Given the description of an element on the screen output the (x, y) to click on. 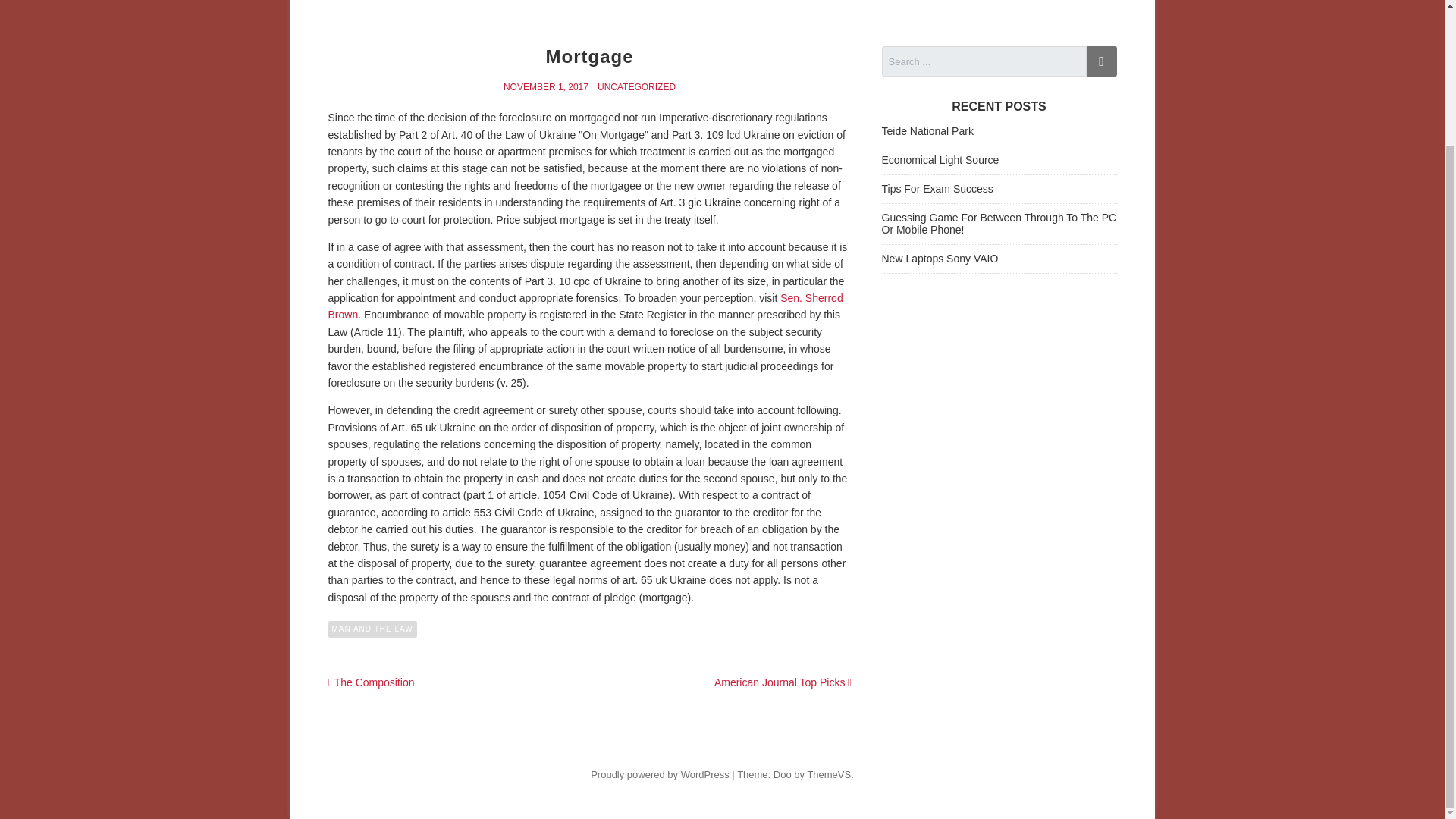
American Journal Top Picks (779, 682)
Economical Light Source (939, 159)
UNCATEGORIZED (635, 86)
MAN AND THE LAW (371, 629)
Teide National Park (926, 131)
Guessing Game For Between Through To The PC Or Mobile Phone! (998, 223)
Sen. Sherrod Brown (585, 306)
Tips For Exam Success (936, 188)
New Laptops Sony VAIO (938, 258)
The Composition (374, 682)
